Given the description of an element on the screen output the (x, y) to click on. 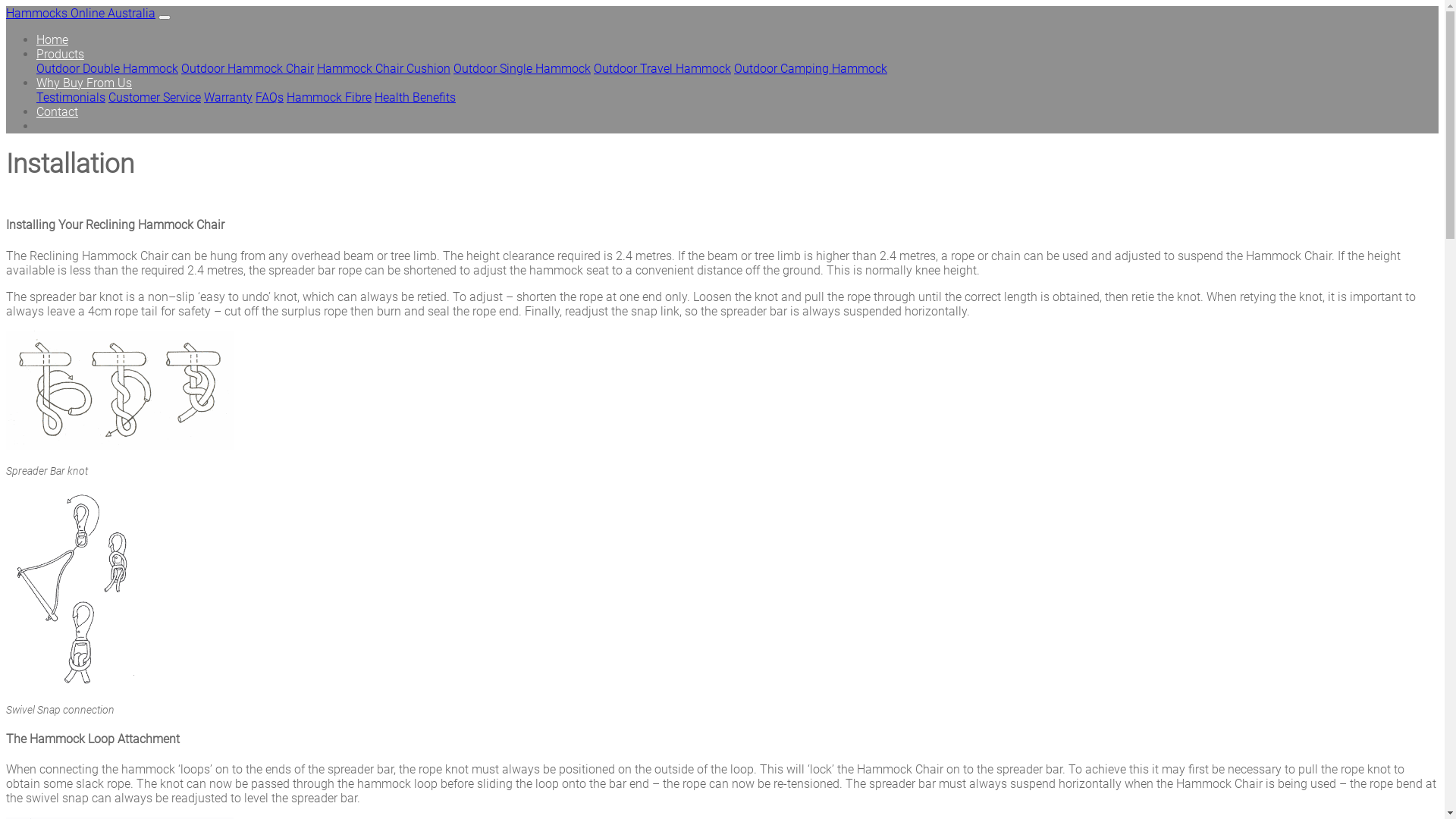
Outdoor Camping Hammock Element type: text (810, 68)
Home Element type: text (52, 39)
Contact Element type: text (57, 111)
Warranty Element type: text (227, 97)
Outdoor Double Hammock Element type: text (107, 68)
Health Benefits Element type: text (414, 97)
Customer Service Element type: text (154, 97)
Outdoor Single Hammock Element type: text (521, 68)
Testimonials Element type: text (70, 97)
Hammock Fibre Element type: text (328, 97)
Why Buy From Us Element type: text (83, 82)
Outdoor Hammock Chair Element type: text (247, 68)
Products Element type: text (60, 54)
Hammock Chair Cushion Element type: text (383, 68)
Hammocks Online Australia Element type: text (80, 13)
FAQs Element type: text (269, 97)
Outdoor Travel Hammock Element type: text (662, 68)
